Given the description of an element on the screen output the (x, y) to click on. 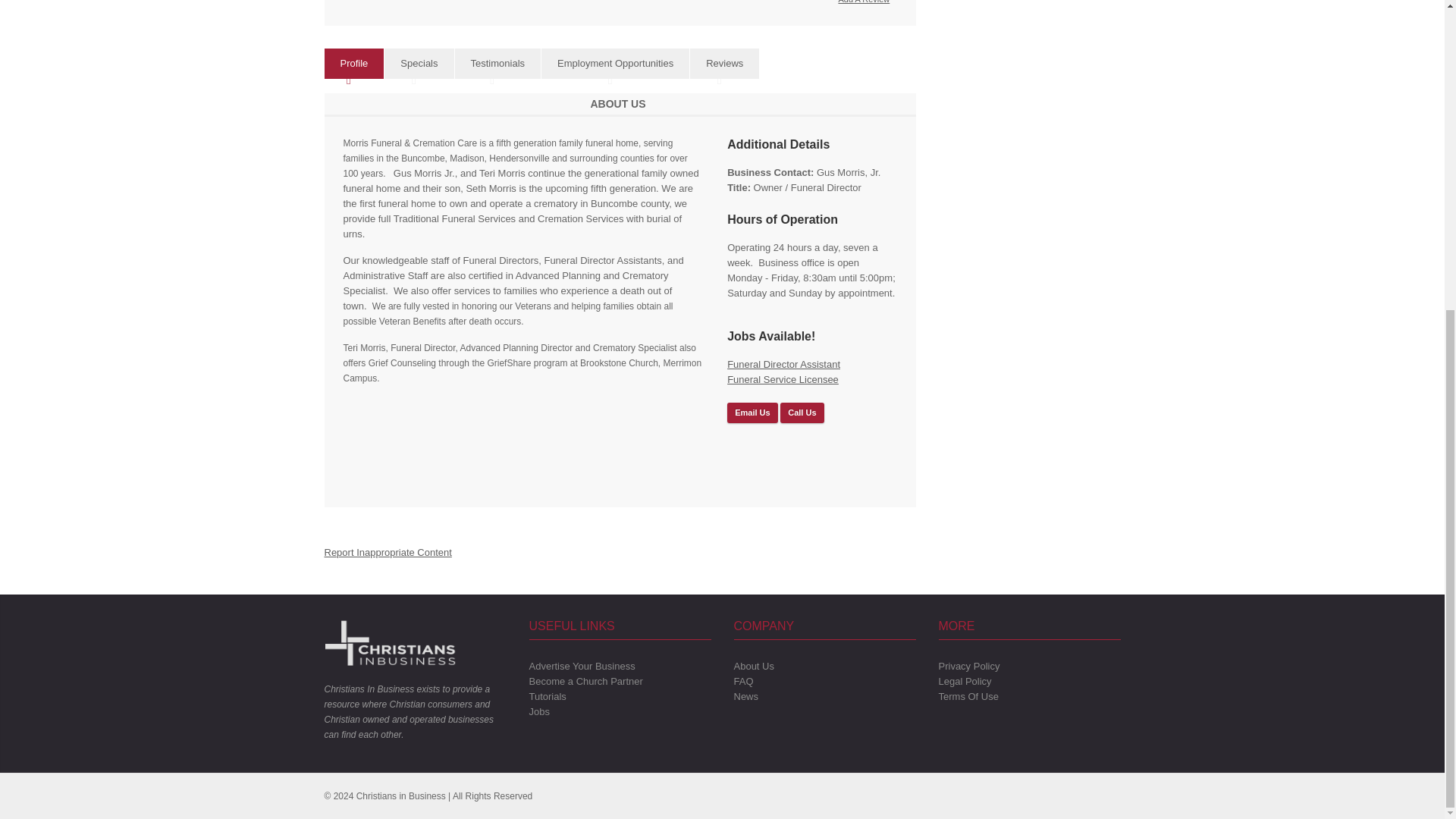
Privacy Policy (969, 665)
Call Us (802, 412)
Profile (354, 63)
Reviews (724, 63)
Employment Opportunities (614, 63)
Funeral Service Licensee (782, 378)
Jobs (539, 711)
Become a Church Partner (586, 681)
About Us (753, 665)
Report Inappropriate Content (387, 552)
